Given the description of an element on the screen output the (x, y) to click on. 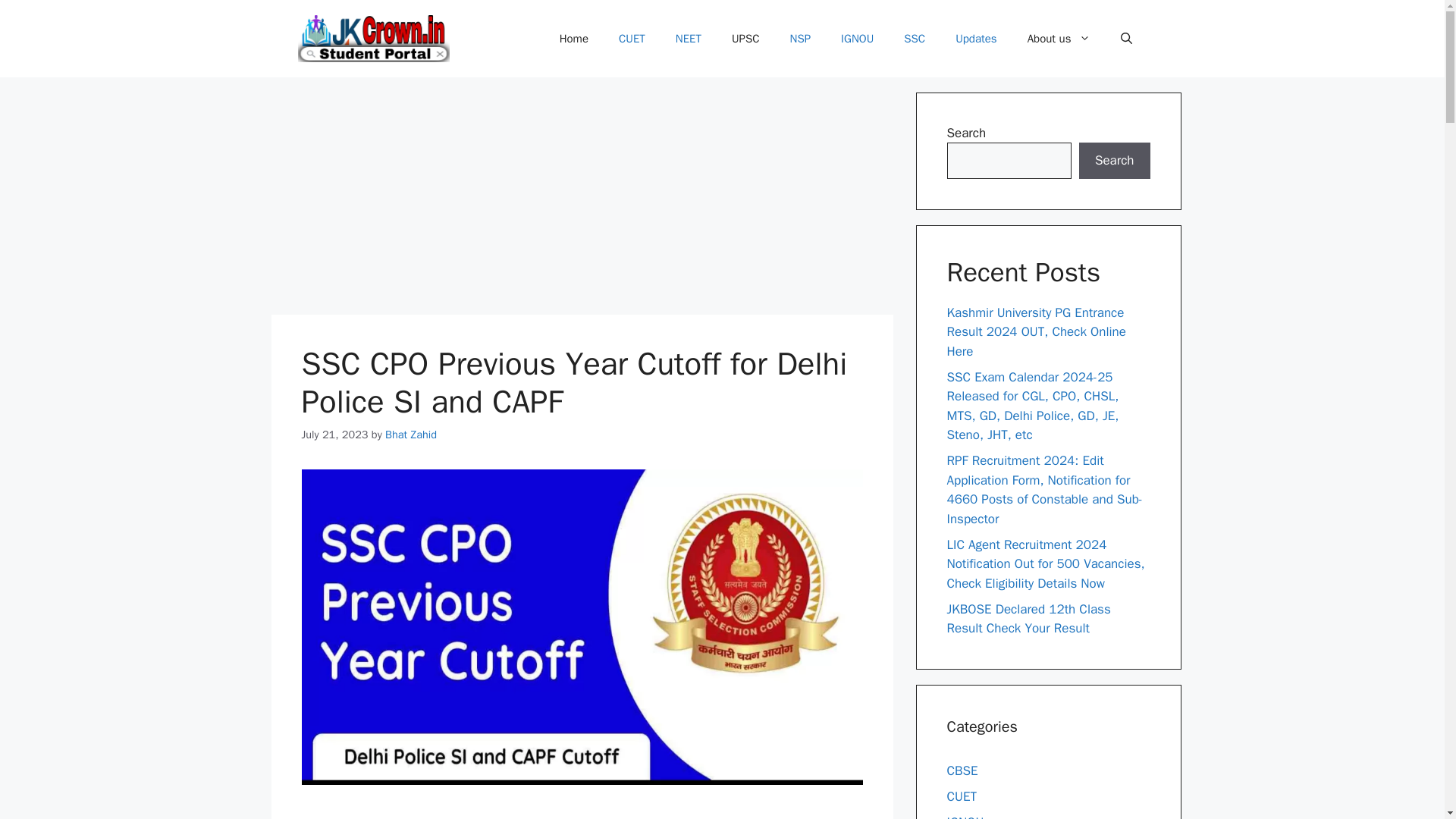
Updates (975, 38)
NEET (688, 38)
Home (574, 38)
UPSC (745, 38)
IGNOU (856, 38)
Bhat Zahid (410, 434)
SSC (914, 38)
CUET (632, 38)
Search (1114, 160)
